Given the description of an element on the screen output the (x, y) to click on. 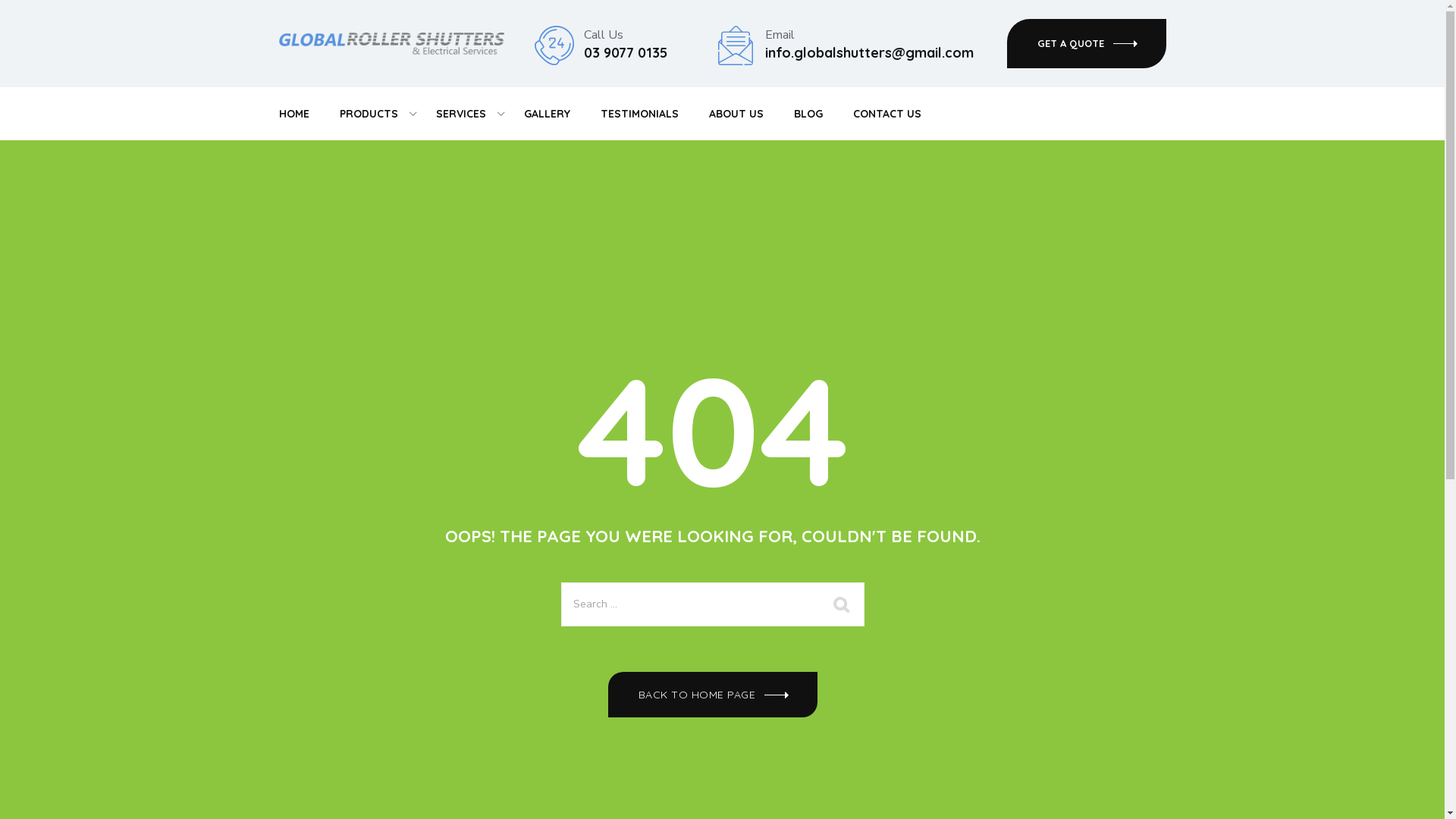
Call Us
03 9077 0135 Element type: text (625, 43)
CONTACT US Element type: text (886, 113)
Global Roller Shutters Element type: hover (391, 42)
GET A QUOTE Element type: text (1086, 43)
BACK TO HOME PAGE Element type: text (713, 694)
BLOG Element type: text (807, 113)
HOME Element type: text (294, 113)
ABOUT US Element type: text (735, 113)
SERVICES Element type: text (460, 113)
TESTIMONIALS Element type: text (639, 113)
GALLERY Element type: text (546, 113)
PRODUCTS Element type: text (368, 113)
Email
info.globalshutters@gmail.com Element type: text (868, 43)
